Given the description of an element on the screen output the (x, y) to click on. 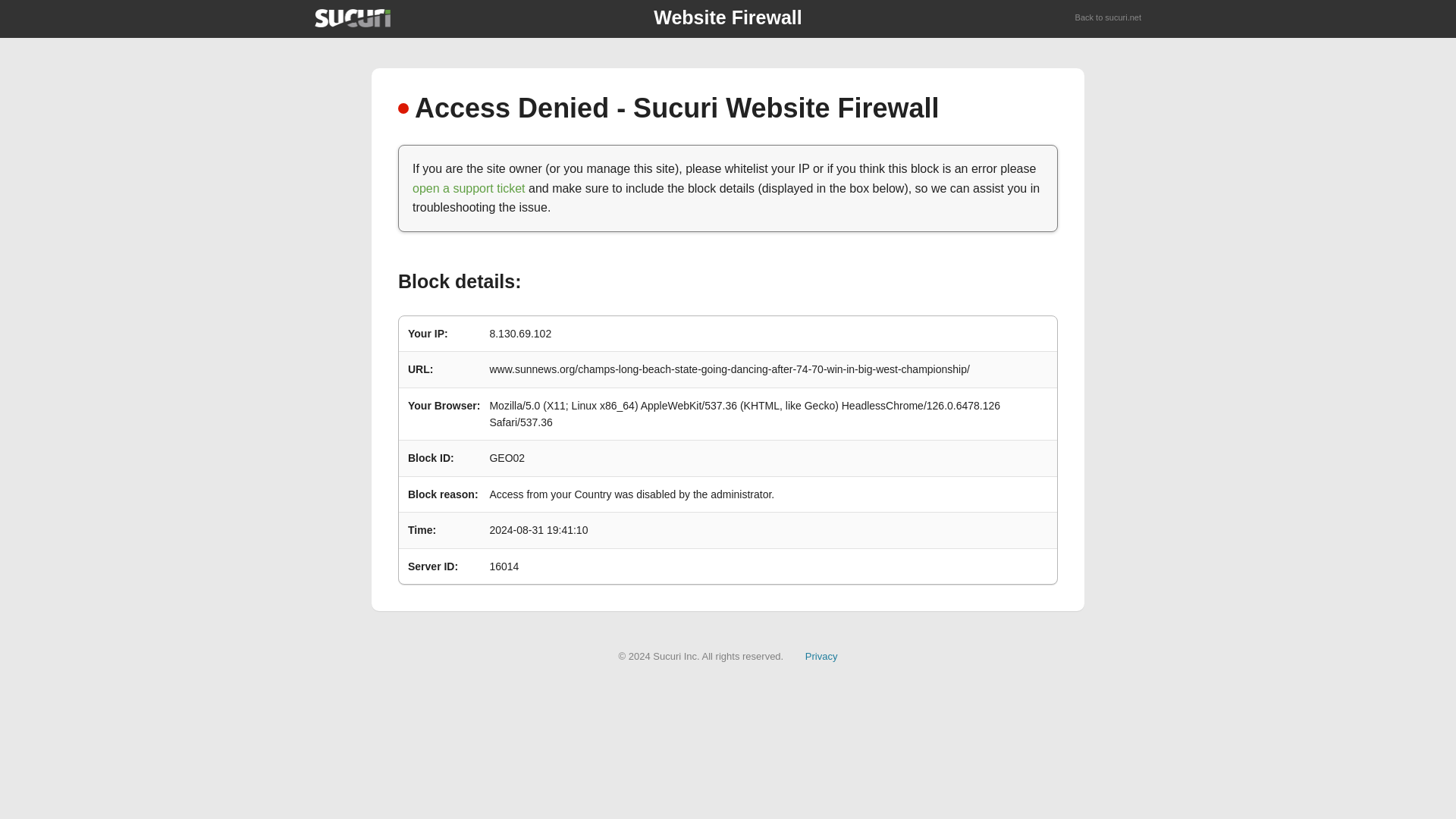
open a support ticket (468, 187)
Back to sucuri.net (1108, 18)
Privacy (821, 655)
